Given the description of an element on the screen output the (x, y) to click on. 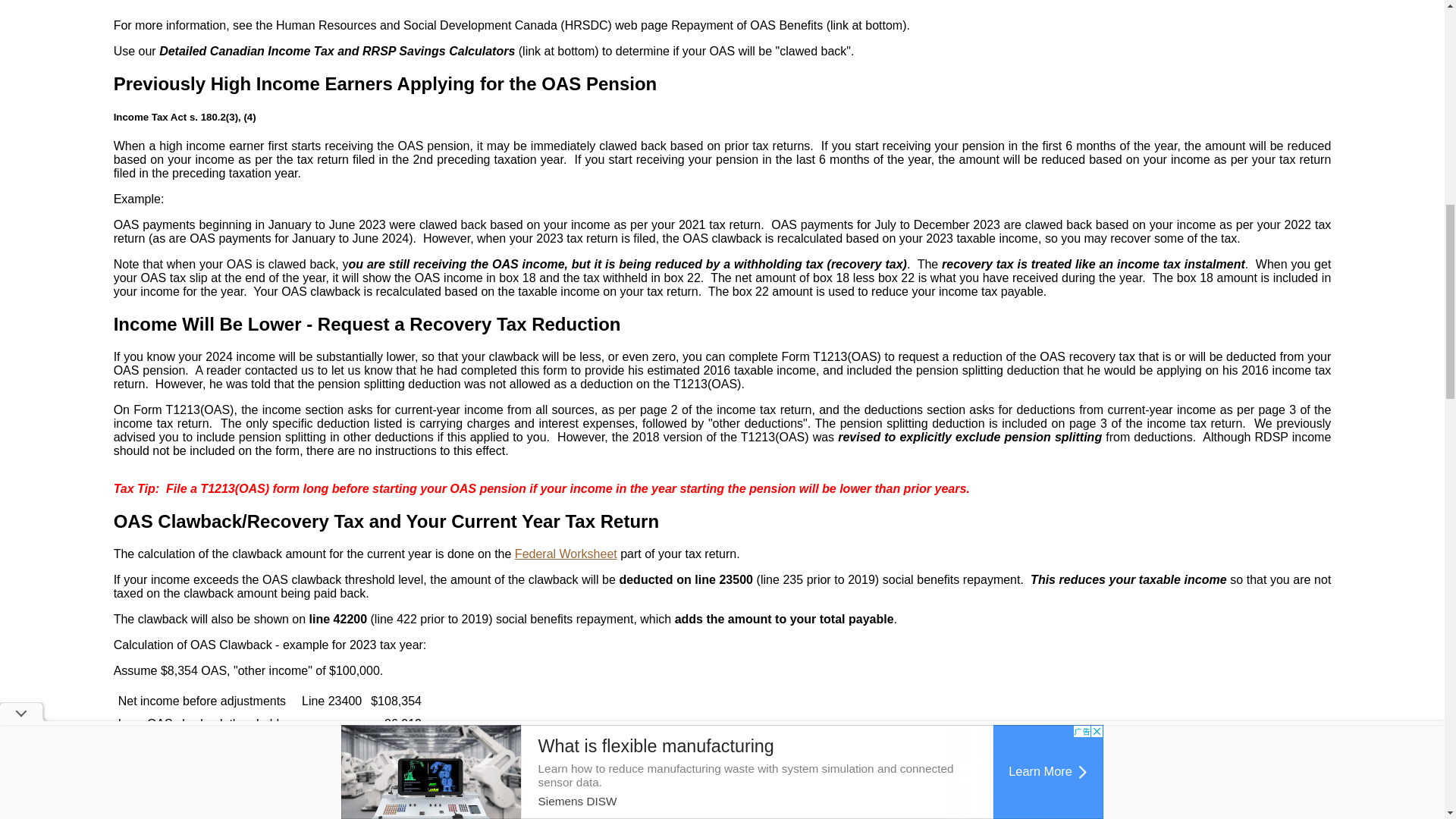
Federal Worksheet (566, 553)
